Given the description of an element on the screen output the (x, y) to click on. 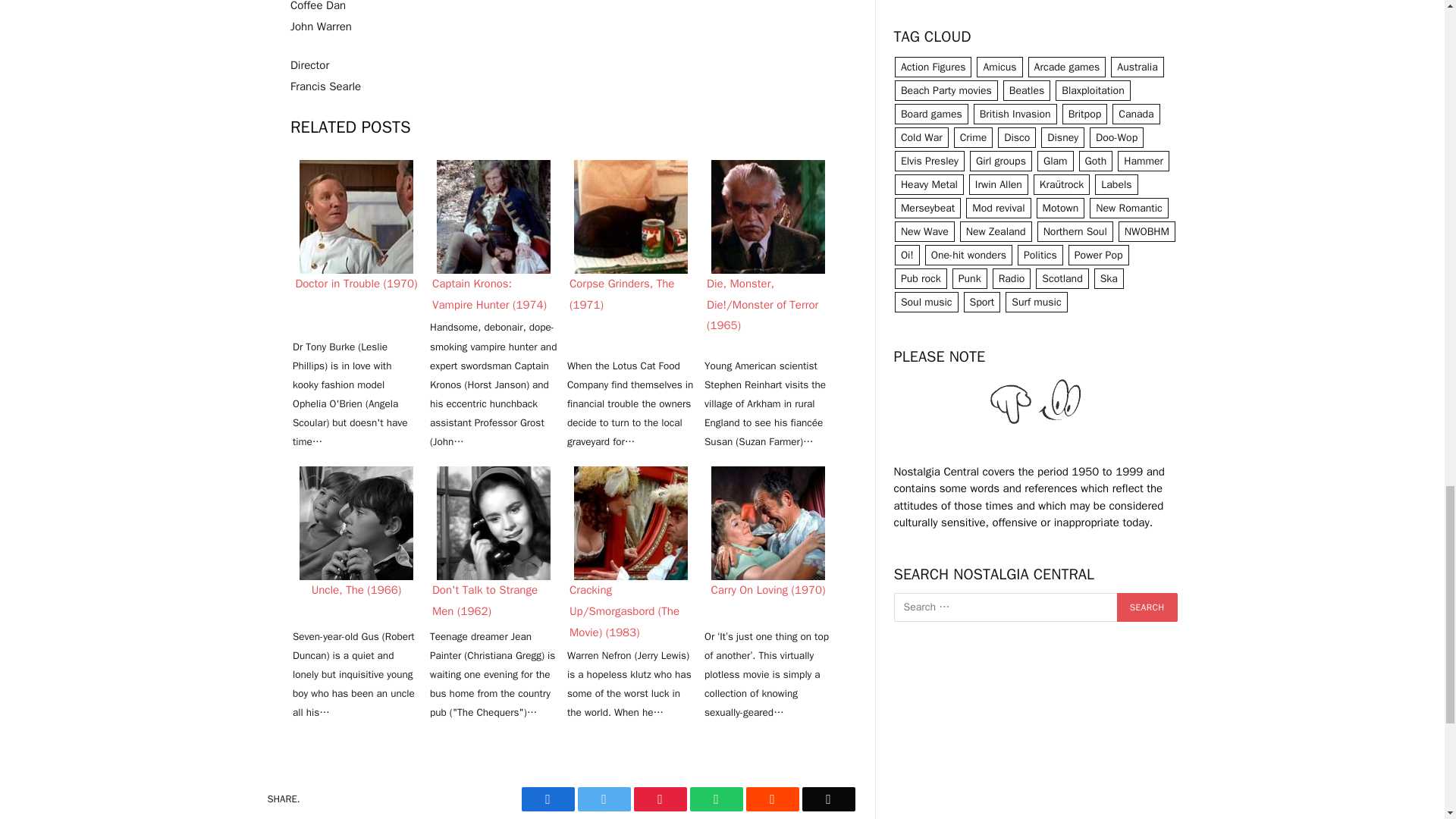
Search (1146, 606)
Search (1146, 606)
